Given the description of an element on the screen output the (x, y) to click on. 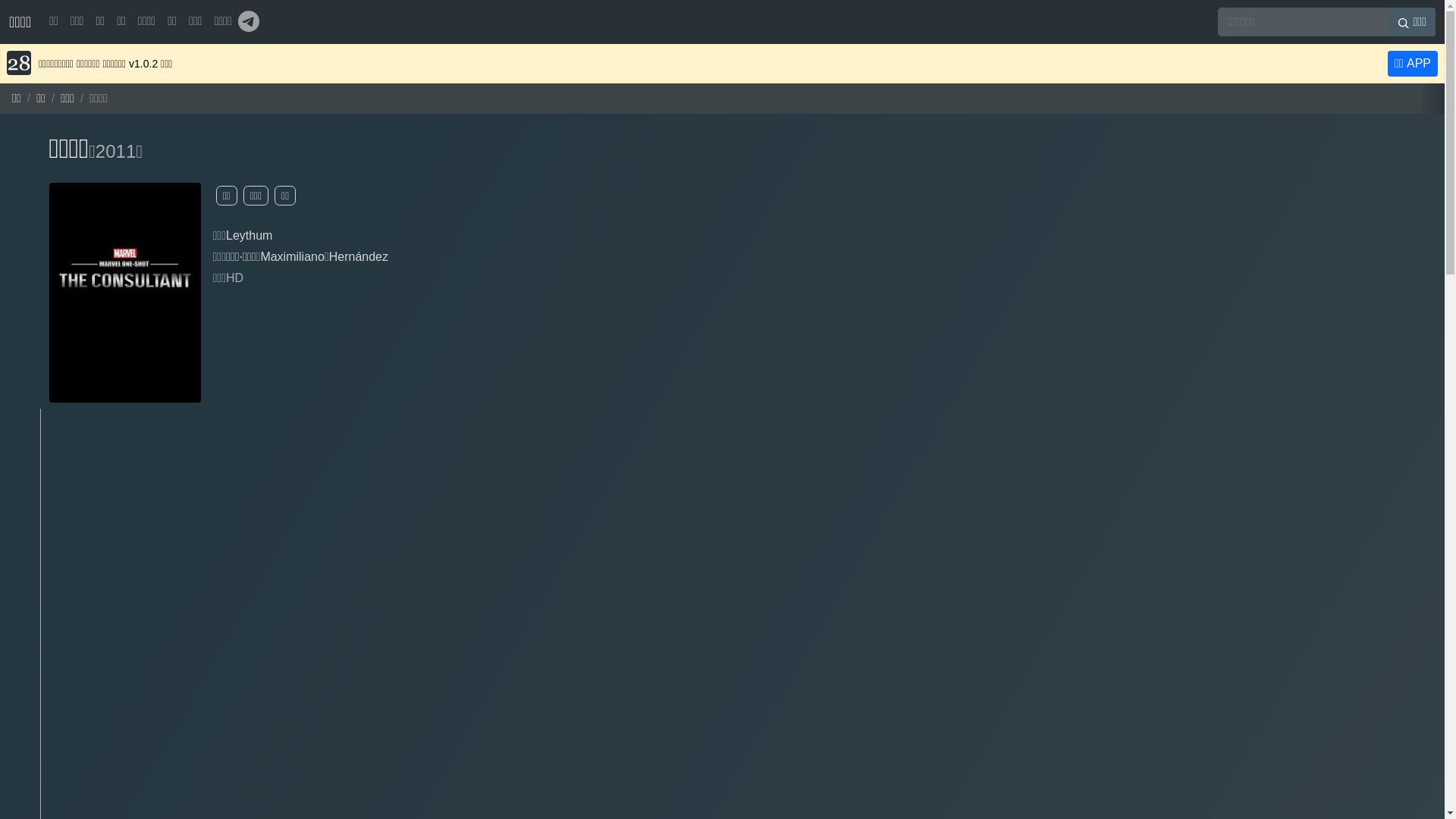
2011 Element type: text (115, 151)
Leythum Element type: text (248, 235)
Maximiliano Element type: text (291, 256)
